Given the description of an element on the screen output the (x, y) to click on. 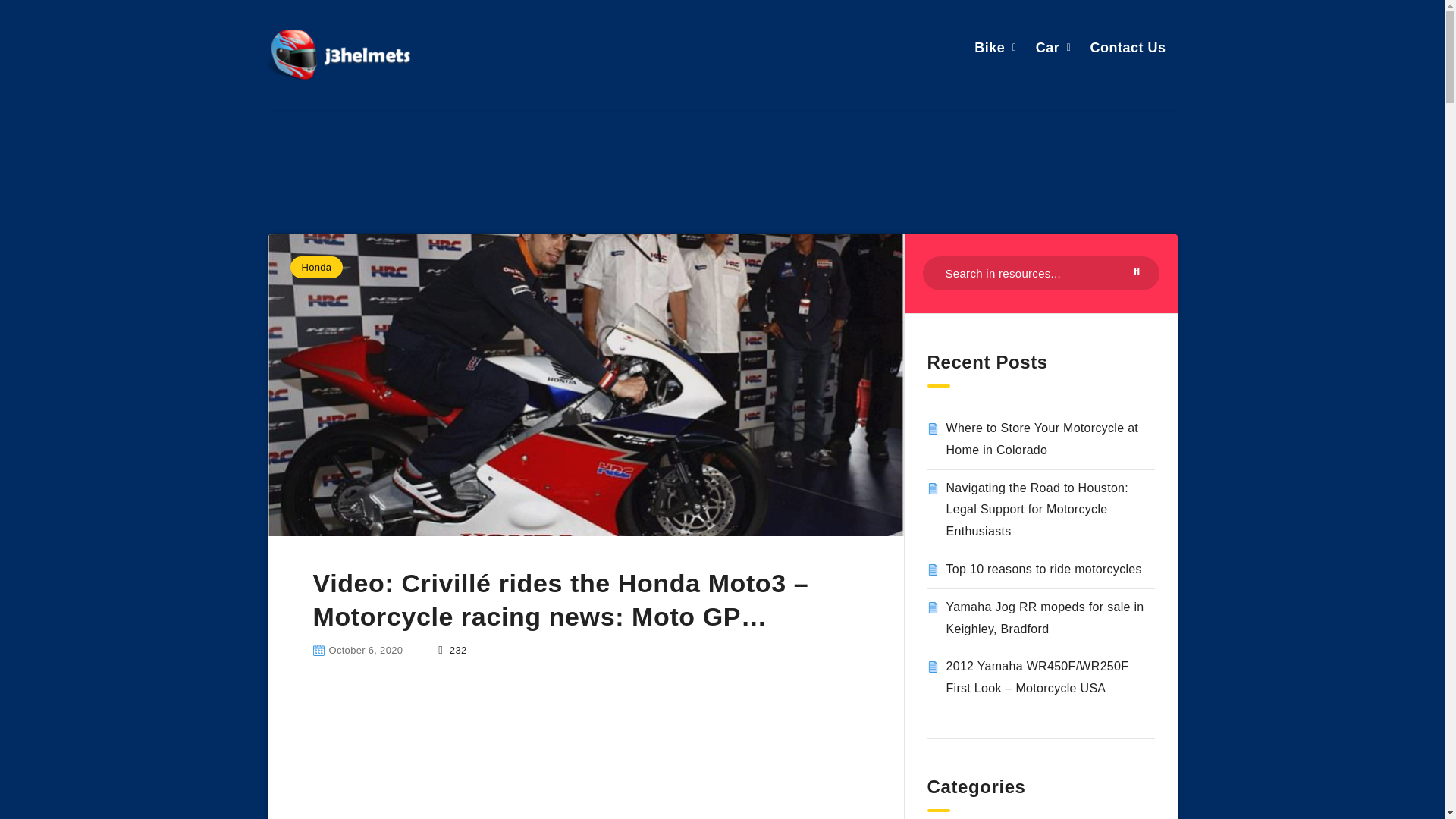
232 (451, 650)
Bike (989, 47)
Contact Us (1127, 47)
Car (1047, 47)
Honda (315, 267)
